Given the description of an element on the screen output the (x, y) to click on. 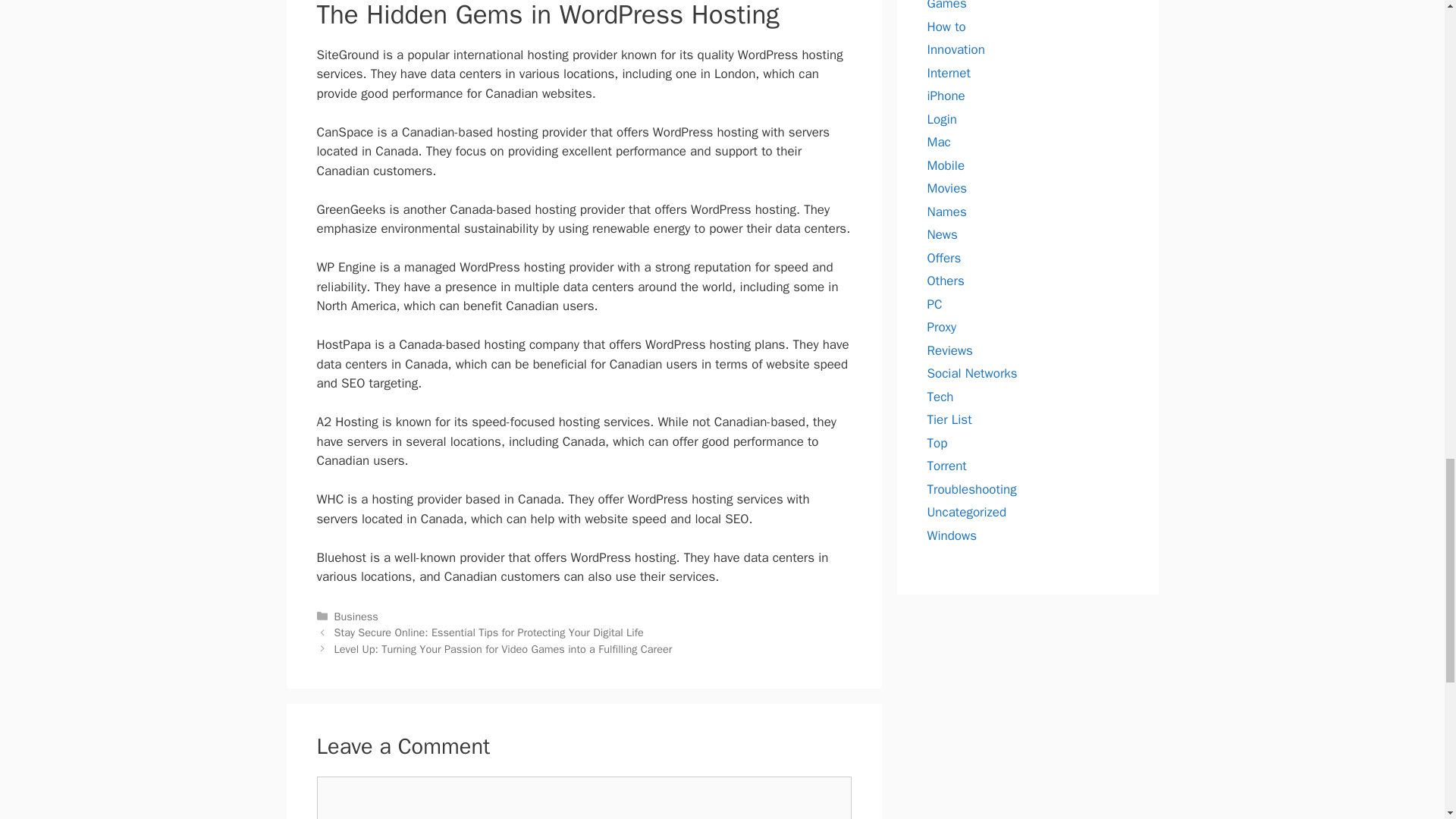
Business (356, 616)
